Given the description of an element on the screen output the (x, y) to click on. 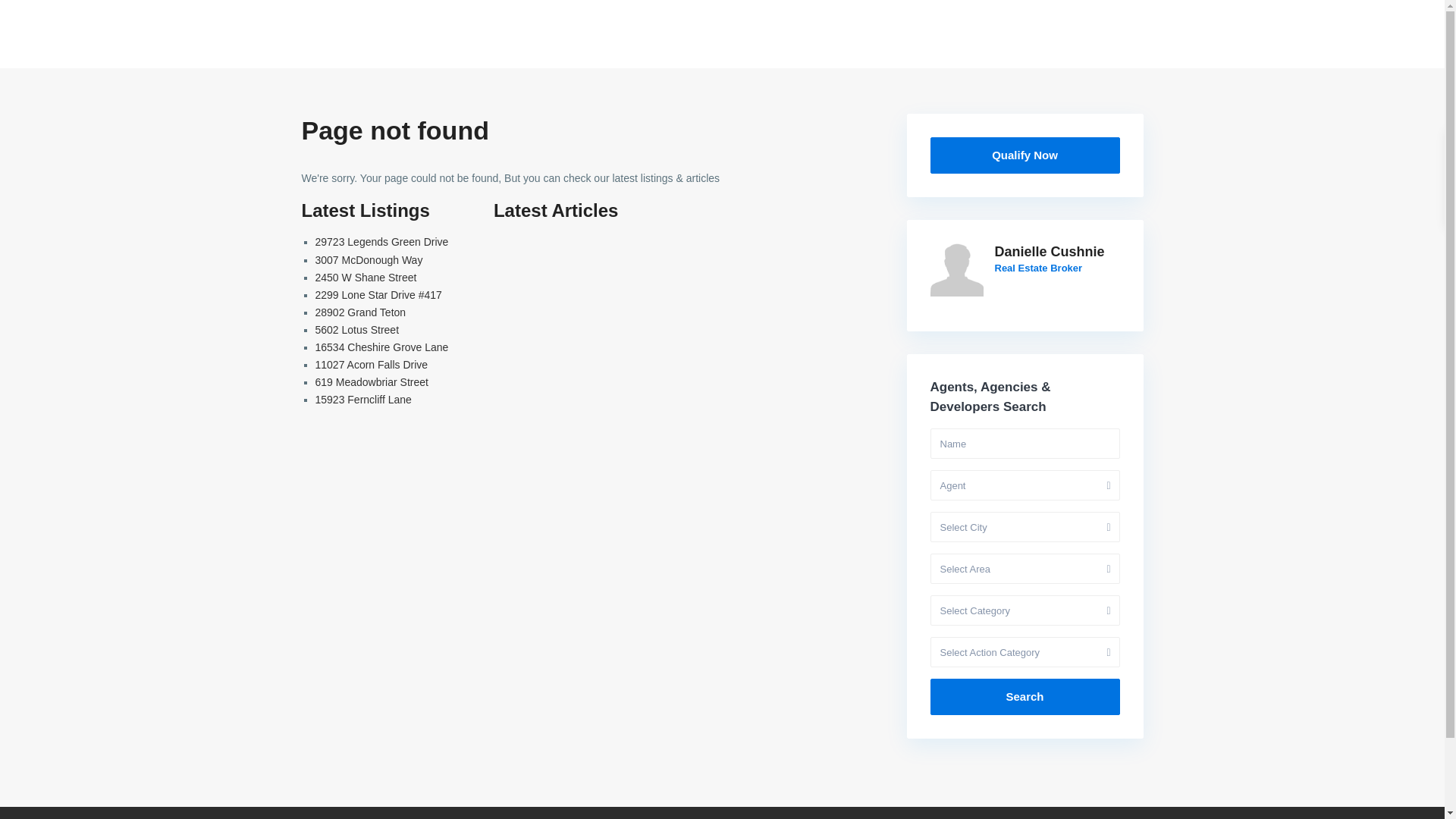
15923 Ferncliff Lane (363, 399)
2450 W Shane Street (365, 277)
29723 Legends Green Drive (381, 241)
Qualify Now (1024, 155)
Search (1024, 696)
619 Meadowbriar Street (371, 381)
16534 Cheshire Grove Lane (381, 346)
3007 McDonough Way (369, 259)
28902 Grand Teton (360, 312)
11027 Acorn Falls Drive (371, 364)
